Given the description of an element on the screen output the (x, y) to click on. 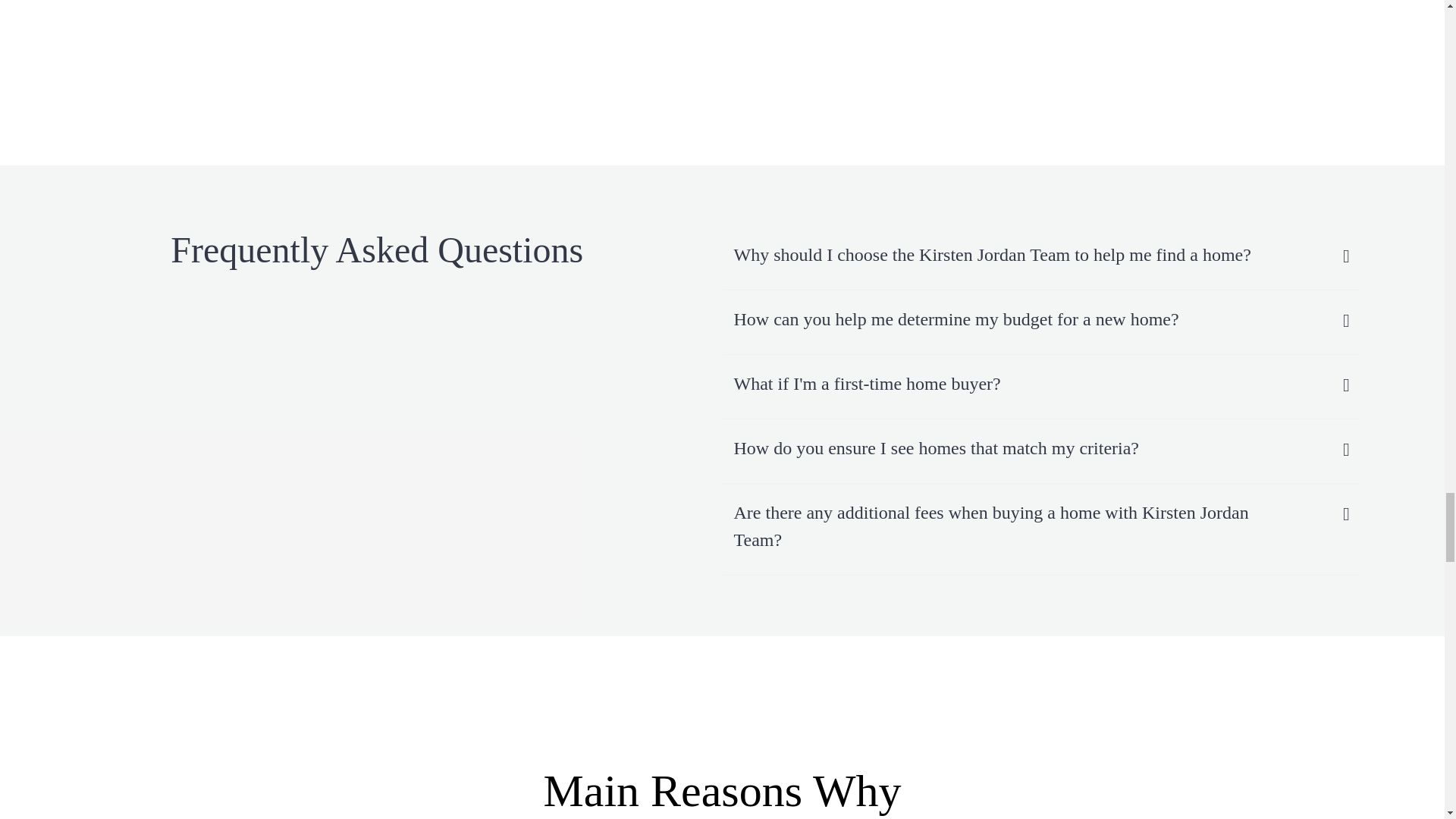
How can you help me determine my budget for a new home? (1010, 320)
How do you ensure I see homes that match my criteria? (1010, 449)
What if I'm a first-time home buyer? (1010, 385)
